Given the description of an element on the screen output the (x, y) to click on. 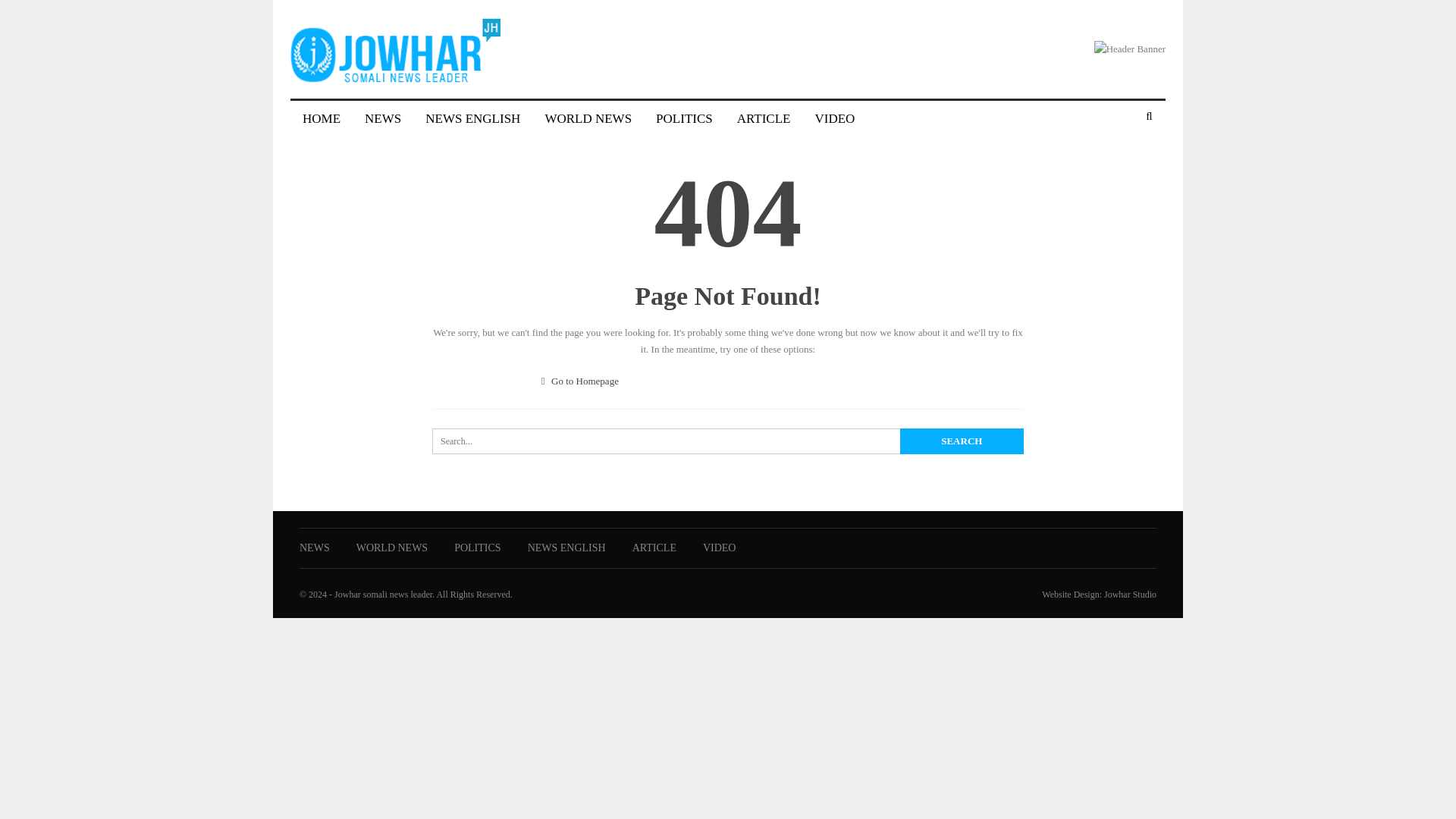
POLITICS (477, 547)
Search (961, 441)
ARTICLE (654, 547)
NEWS ENGLISH (566, 547)
Go to Homepage (579, 380)
NEWS (314, 547)
NEWS ENGLISH (472, 118)
Search for: (727, 441)
Search (961, 441)
WORLD NEWS (392, 547)
NEWS (382, 118)
ARTICLE (764, 118)
HOME (320, 118)
Jowhar Studio (1129, 593)
WORLD NEWS (587, 118)
